Given the description of an element on the screen output the (x, y) to click on. 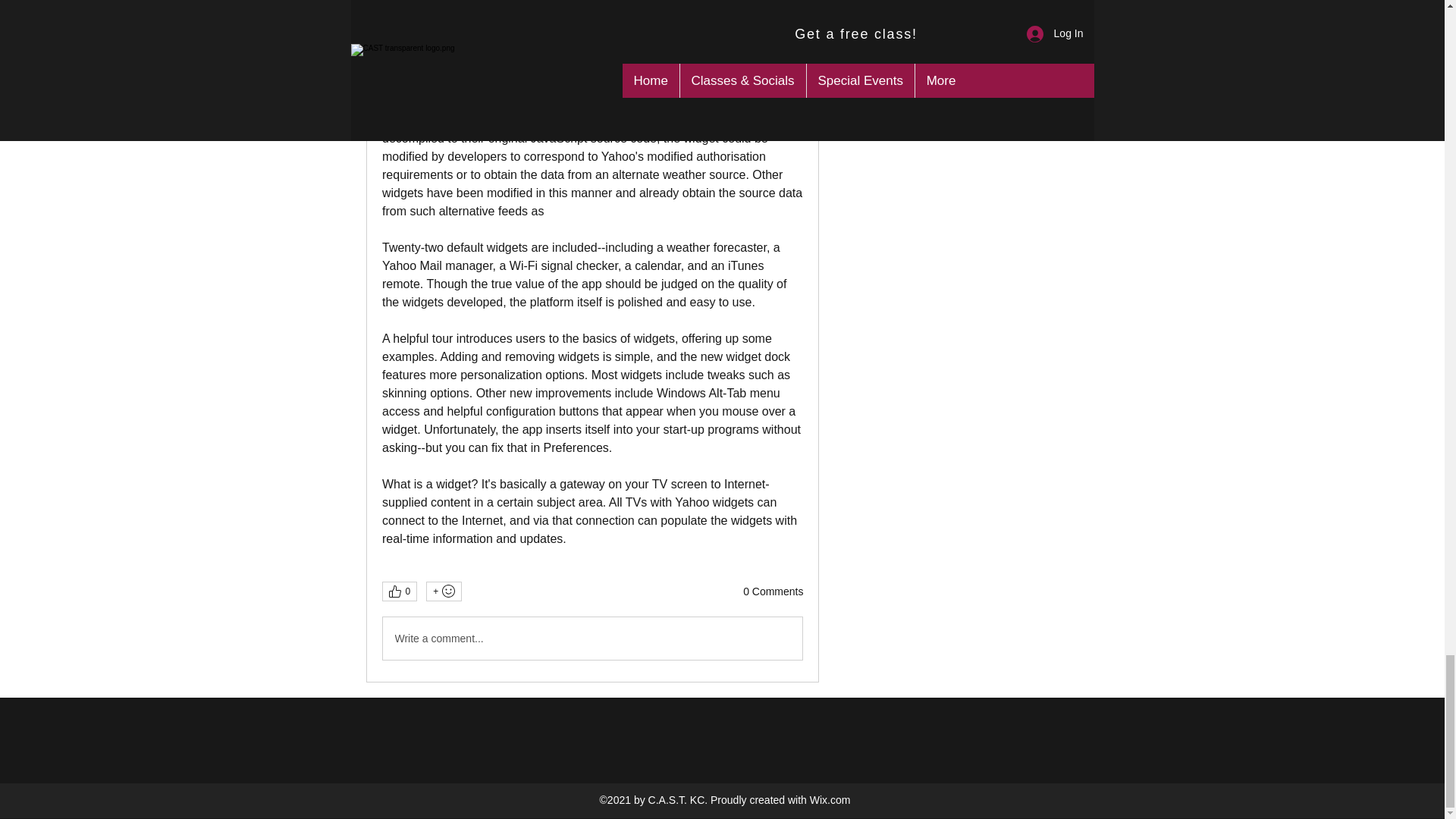
Write a comment... (591, 638)
0 Comments (772, 591)
